Given the description of an element on the screen output the (x, y) to click on. 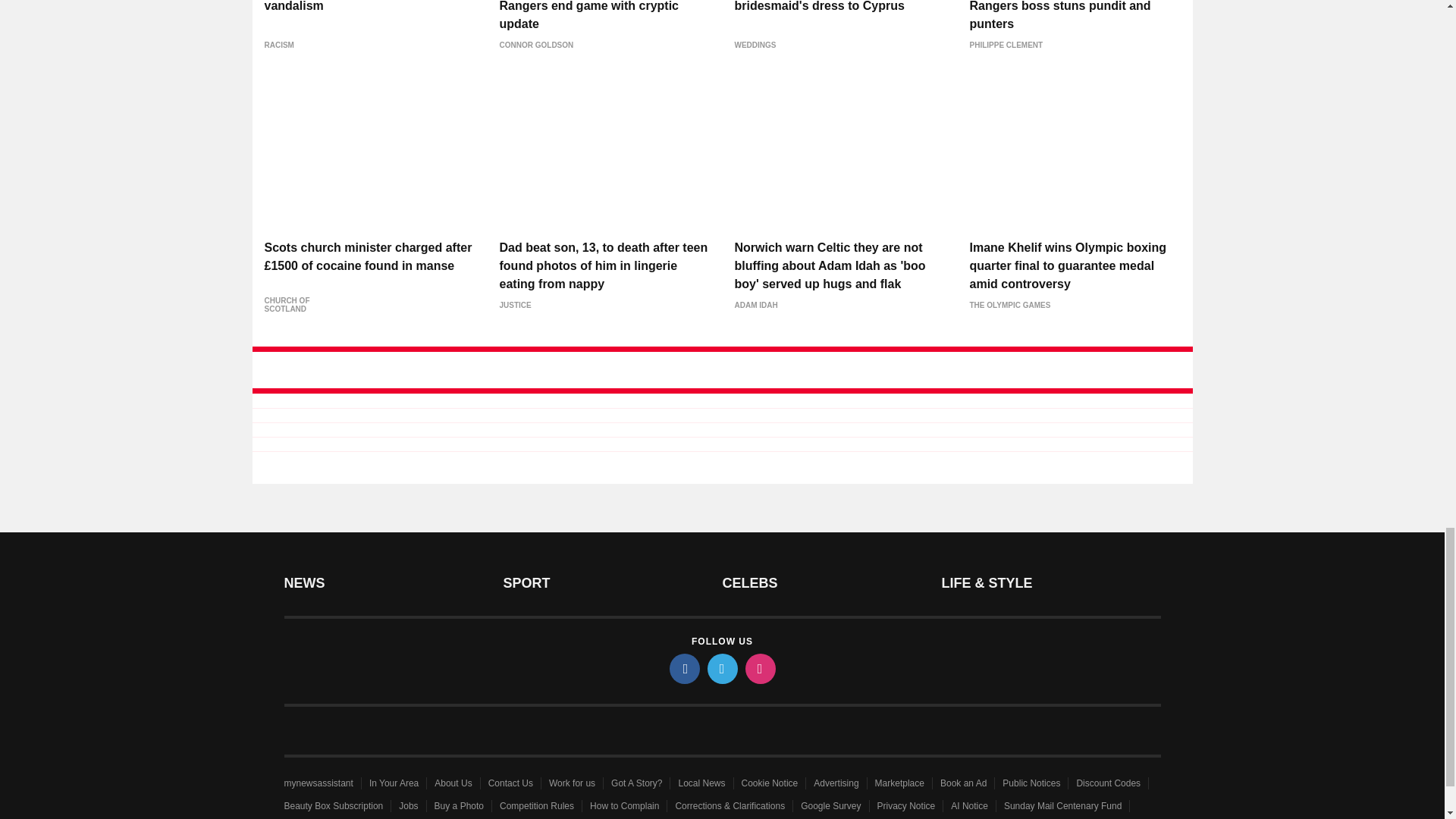
facebook (683, 668)
instagram (759, 668)
twitter (721, 668)
